Given the description of an element on the screen output the (x, y) to click on. 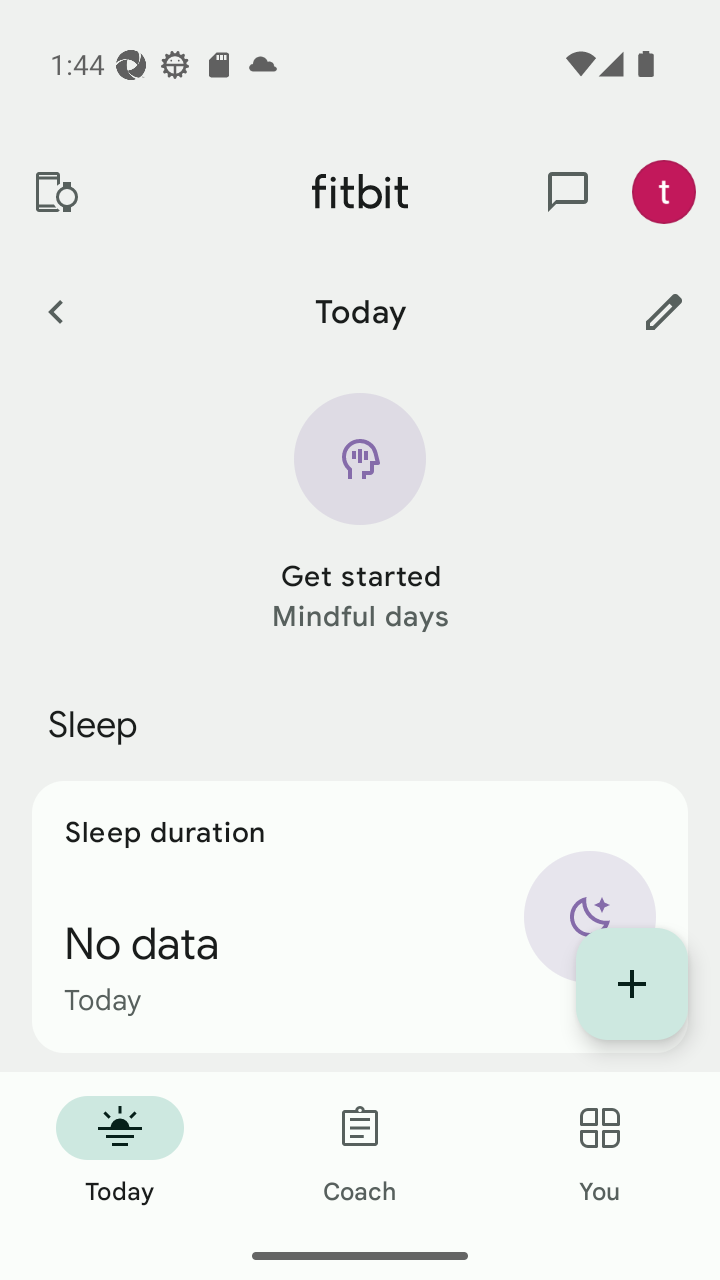
Devices and apps (55, 191)
messages and notifications (567, 191)
Previous Day (55, 311)
Customize (664, 311)
Mindfulness icon Get started Mindful days (360, 514)
Sleep duration No data Today Sleep static arc (359, 916)
Display list of quick log entries (632, 983)
Coach (359, 1151)
You (600, 1151)
